Given the description of an element on the screen output the (x, y) to click on. 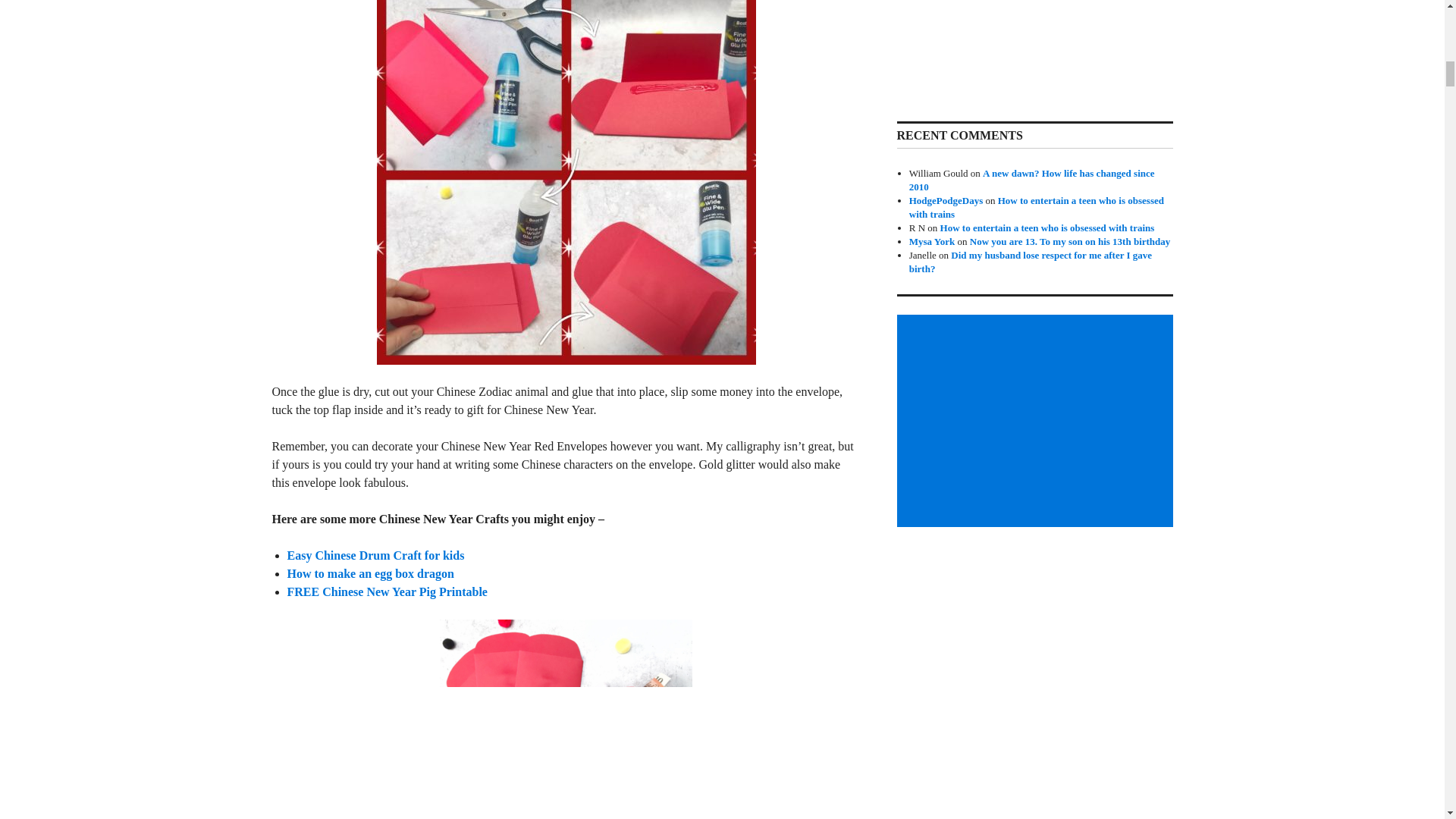
How to make an egg box dragon (369, 573)
Easy Chinese Drum Craft for kids (375, 554)
Advertisement (1036, 420)
FREE Chinese New Year Pig Printable (386, 591)
